Given the description of an element on the screen output the (x, y) to click on. 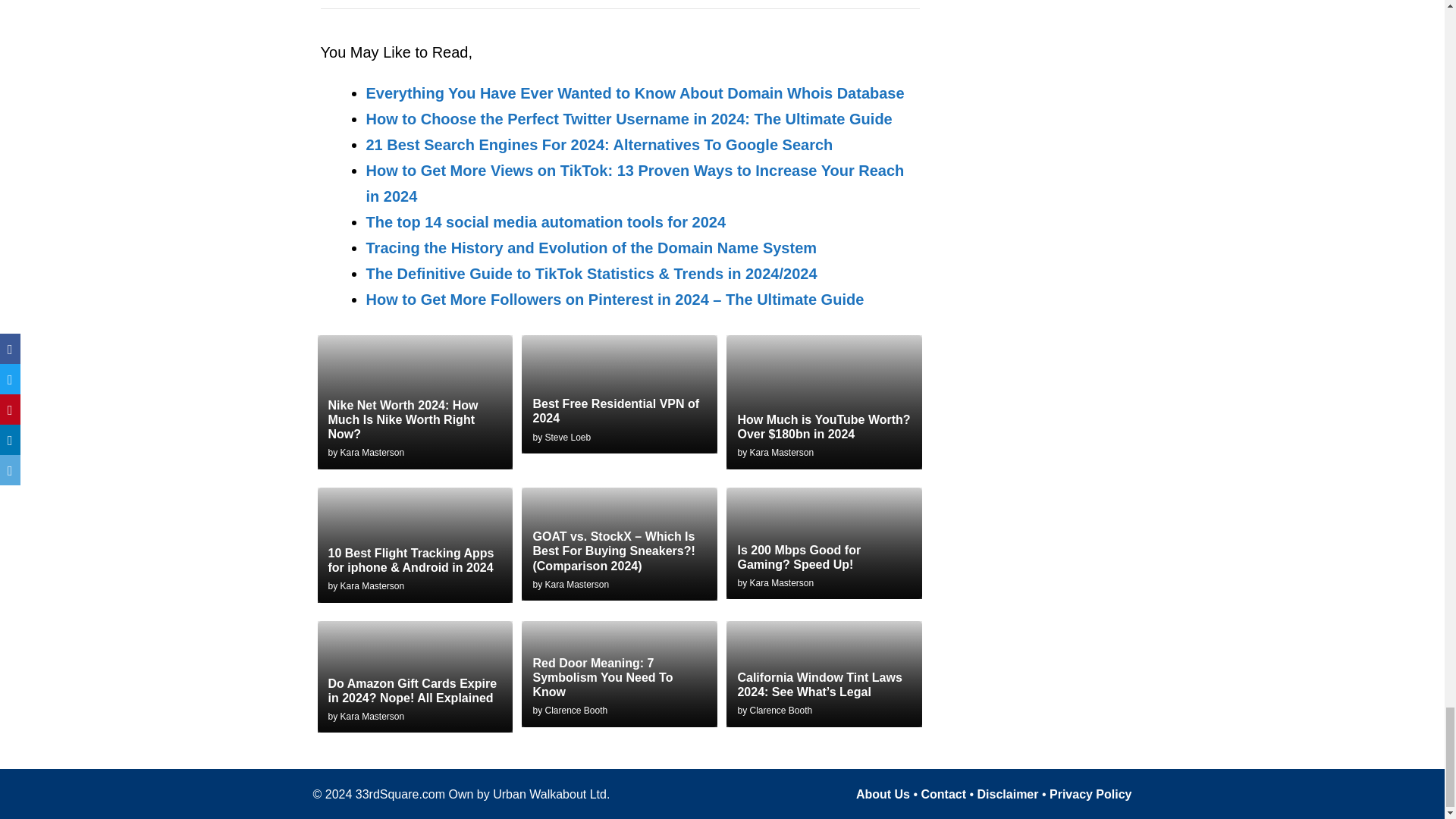
Tracing the History and Evolution of the Domain Name System (590, 247)
The top 14 social media automation tools for 2024 (545, 221)
